Given the description of an element on the screen output the (x, y) to click on. 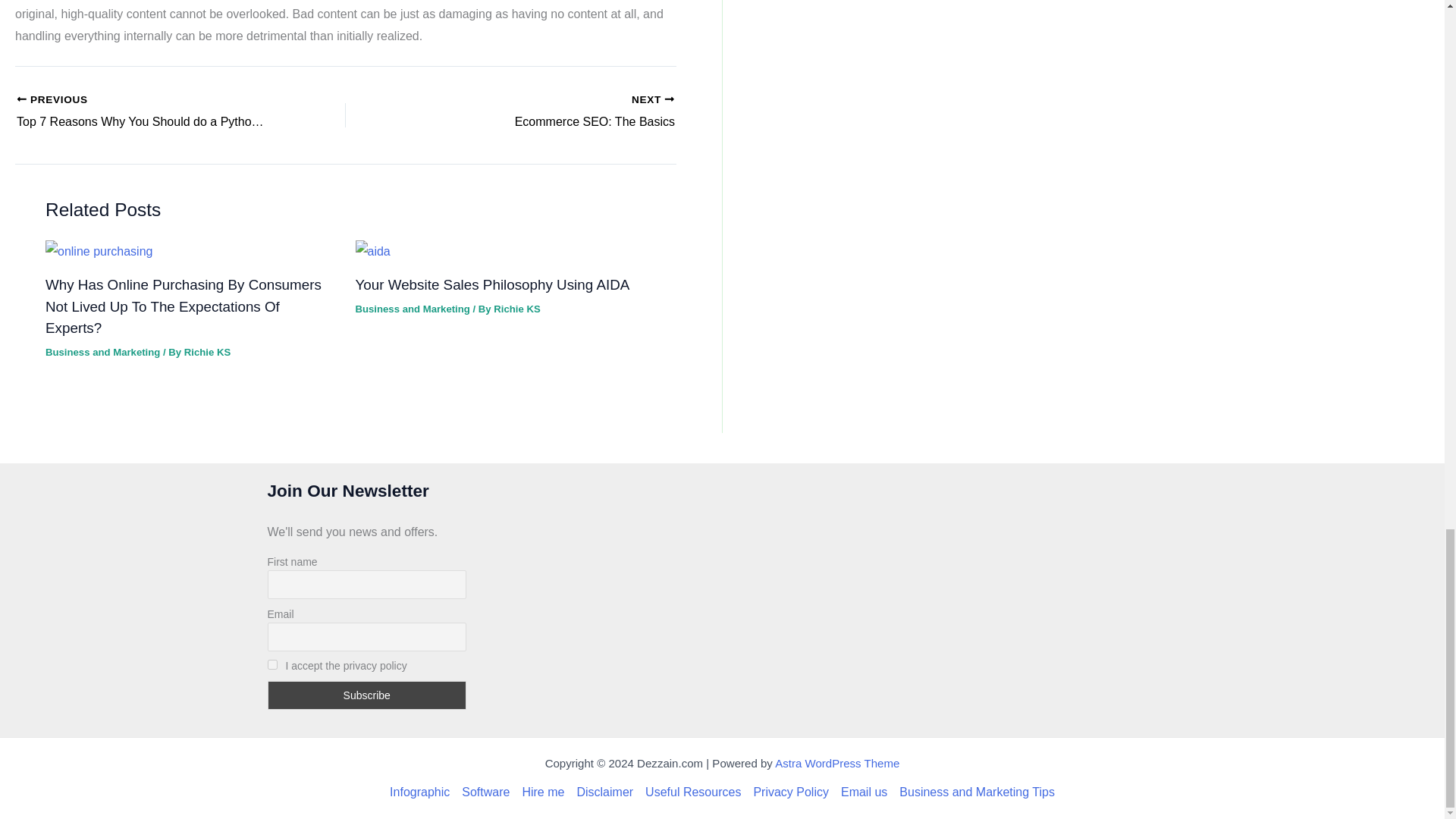
Top 7 Reasons Why You Should do a Python Certification (148, 111)
View all posts by Richie KS (207, 351)
Read our privacy policy terms (790, 792)
Subscribe (365, 695)
Hire Richie for Custom Work (542, 792)
on (271, 664)
Ecommerce SEO: The Basics (542, 111)
View all posts by Richie KS (542, 111)
